Given the description of an element on the screen output the (x, y) to click on. 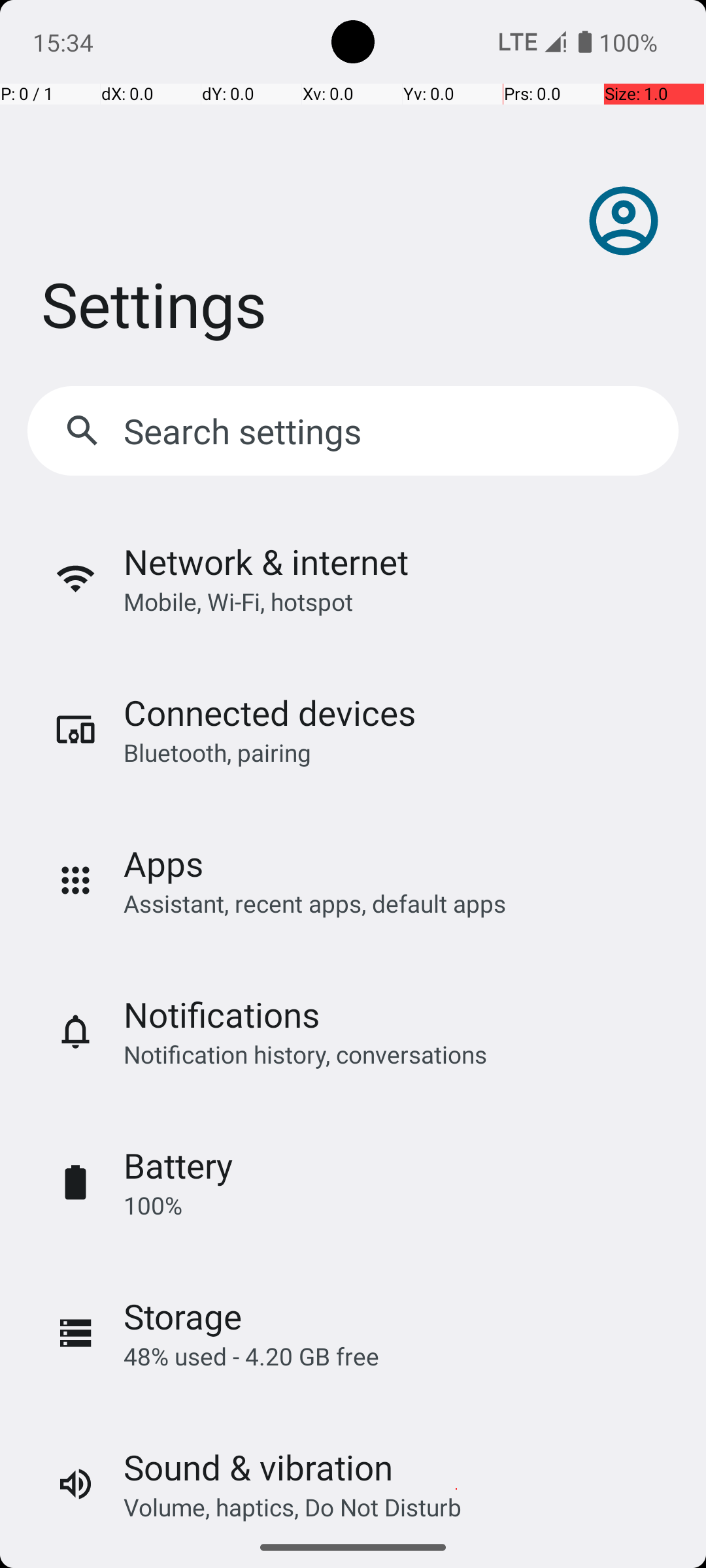
48% used - 4.20 GB free Element type: android.widget.TextView (251, 1355)
